Given the description of an element on the screen output the (x, y) to click on. 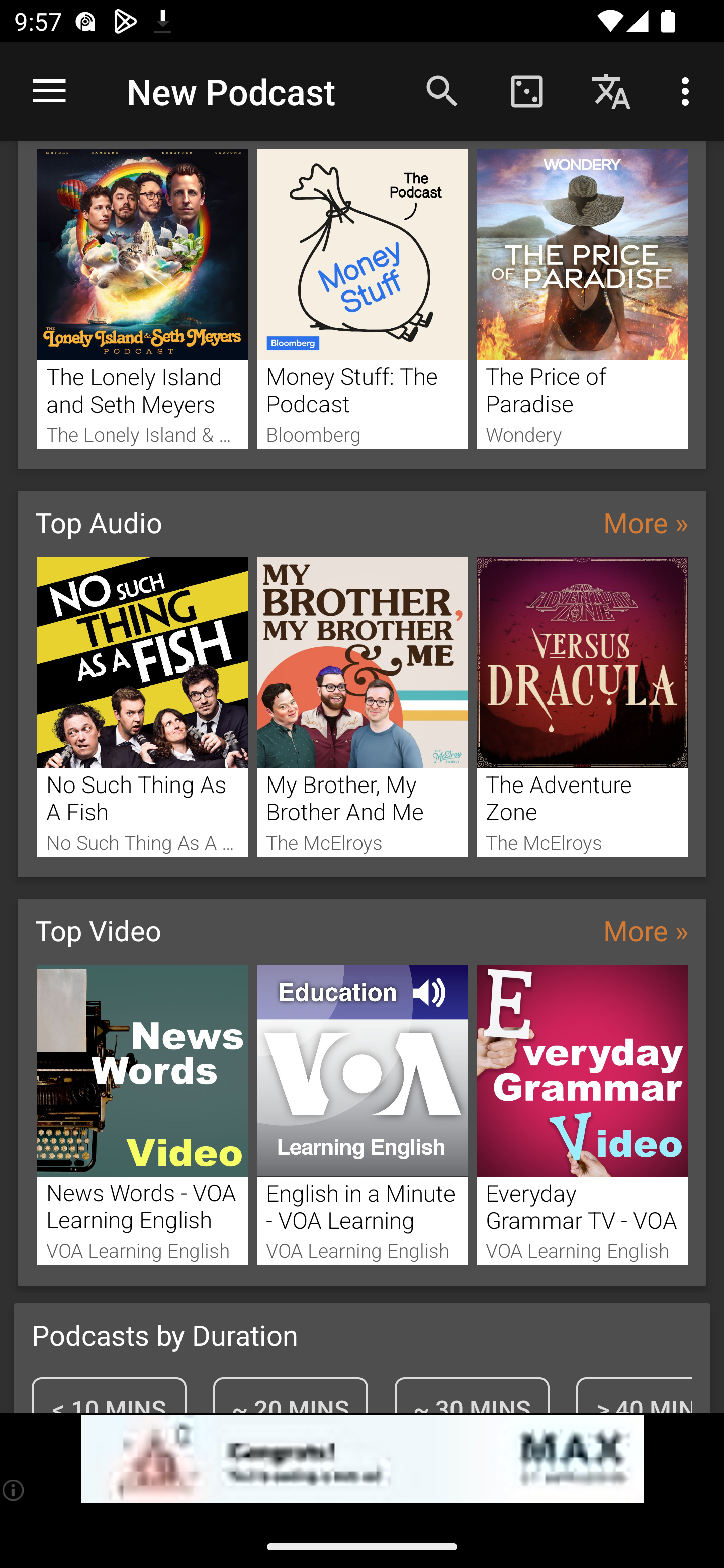
Open navigation sidebar (49, 91)
Search (442, 90)
Random pick (526, 90)
Podcast languages (611, 90)
More options (688, 90)
Money Stuff: The Podcast Bloomberg (362, 299)
The Price of Paradise Wondery (581, 299)
More » (645, 521)
No Such Thing As A Fish (142, 706)
My Brother, My Brother And Me The McElroys (362, 706)
The Adventure Zone The McElroys (581, 706)
More » (645, 929)
app-monetization (362, 1459)
(i) (14, 1489)
